Given the description of an element on the screen output the (x, y) to click on. 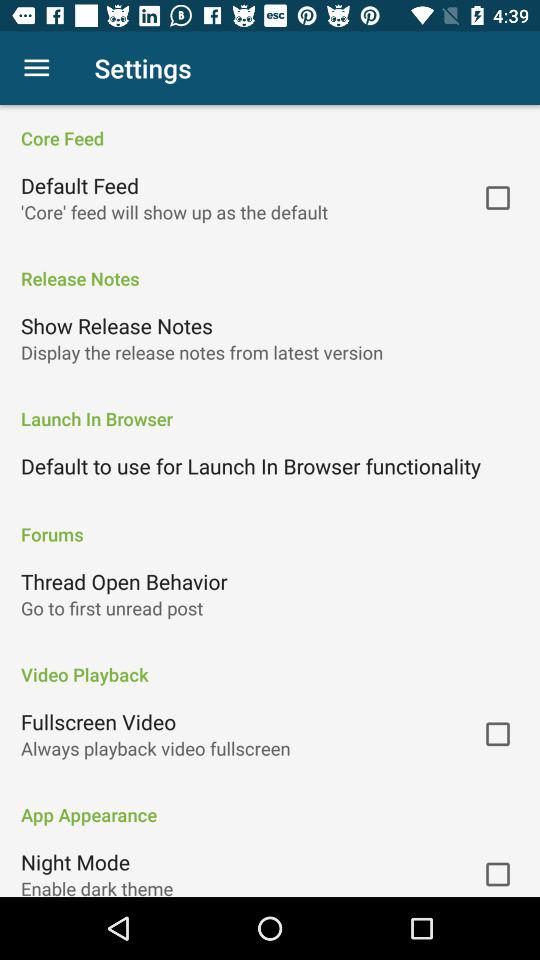
click the icon below forums icon (124, 581)
